Given the description of an element on the screen output the (x, y) to click on. 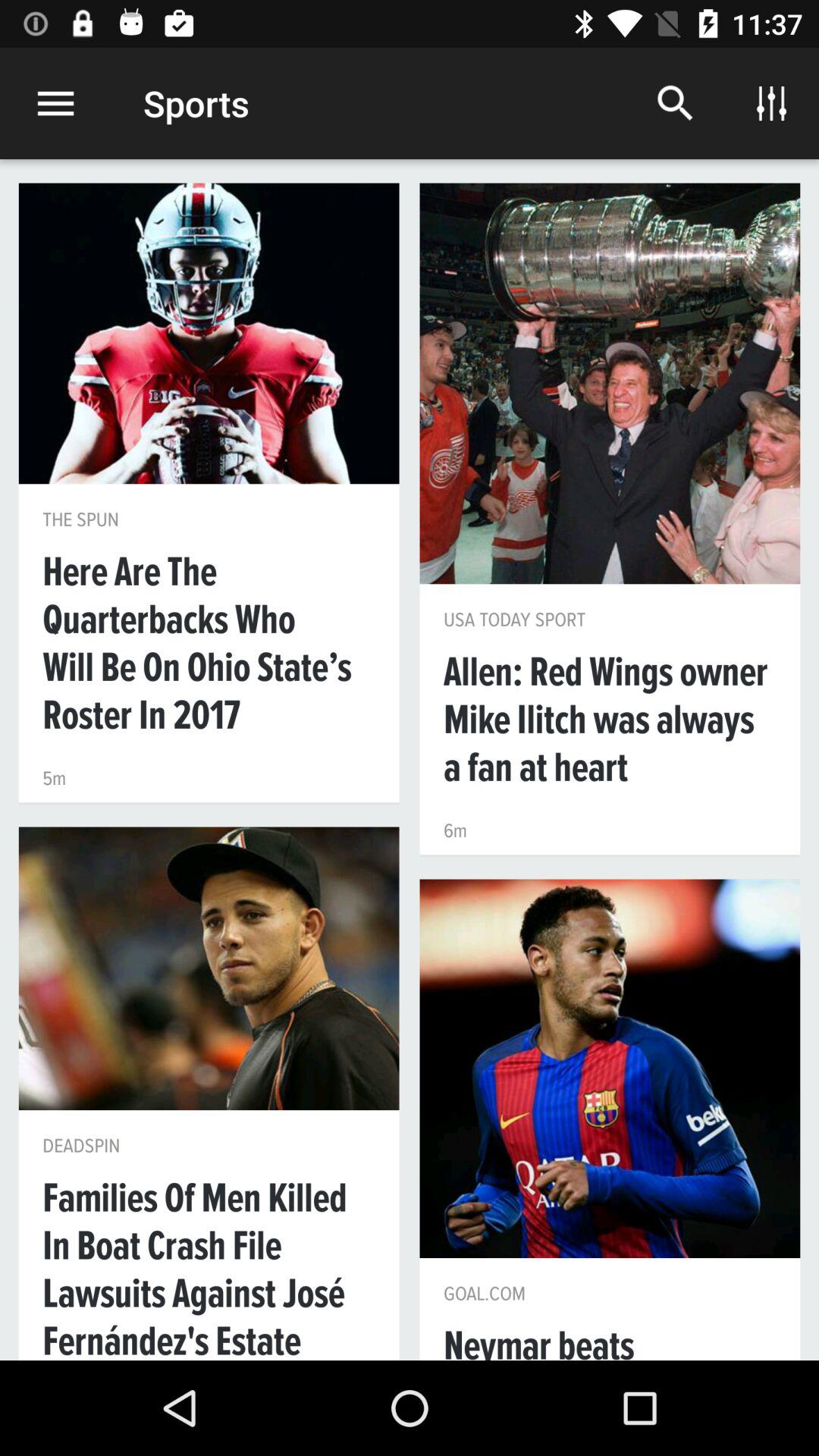
turn on the item to the left of sports icon (55, 103)
